Given the description of an element on the screen output the (x, y) to click on. 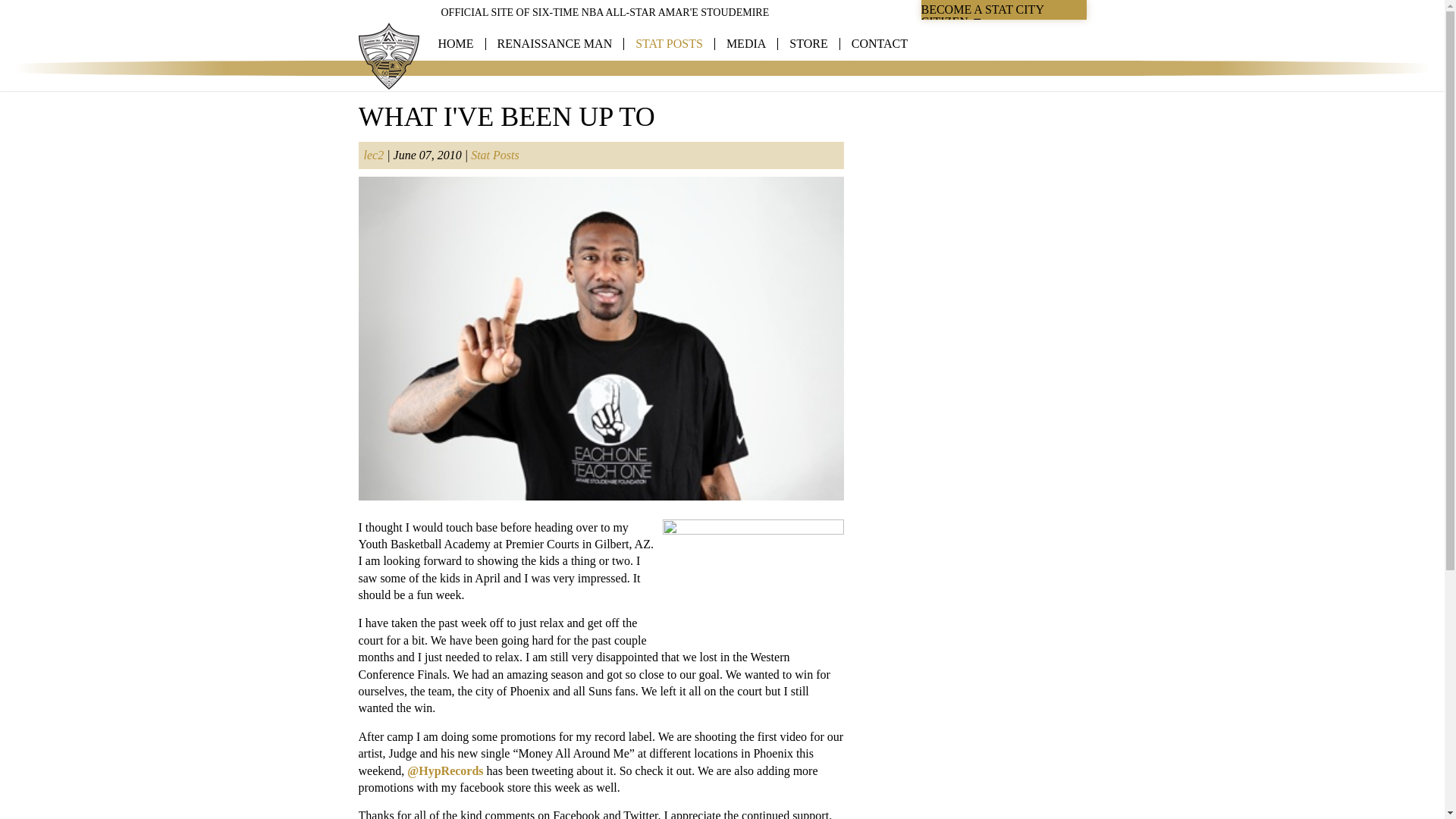
RENAISSANCE MAN (554, 43)
STAT POSTS (668, 43)
STORE (808, 43)
Amar'e Stoudemire (388, 56)
Posts by lec2 (374, 154)
CONTACT (879, 43)
Stat Posts (494, 154)
MEDIA (745, 43)
HOME (456, 43)
lec2 (374, 154)
AMAR'E STOUDEMIRE (388, 56)
Subscribe (1007, 151)
